Given the description of an element on the screen output the (x, y) to click on. 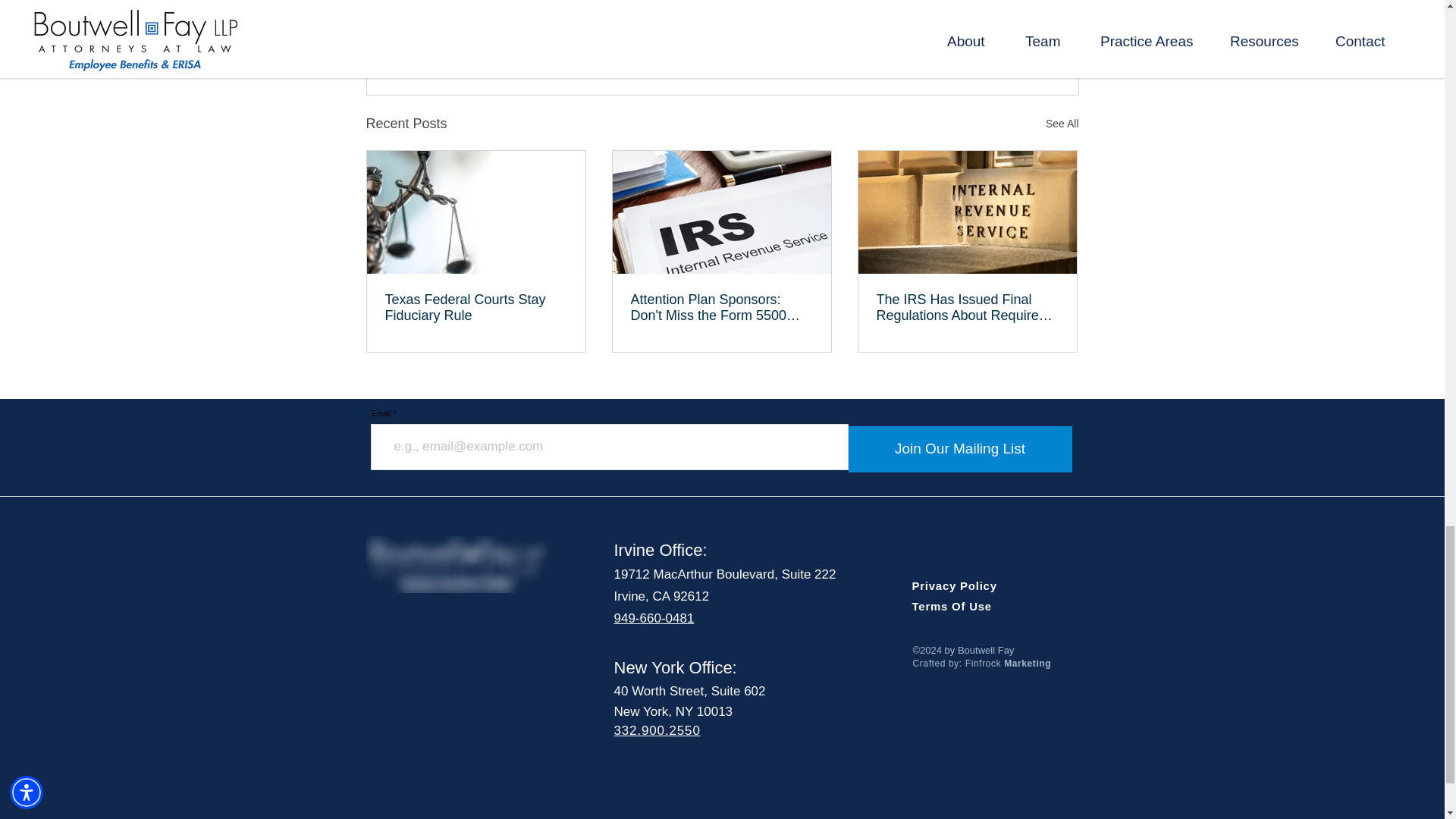
Boutwell Fay Logo (456, 564)
See All (1061, 124)
Archive (985, 25)
